Given the description of an element on the screen output the (x, y) to click on. 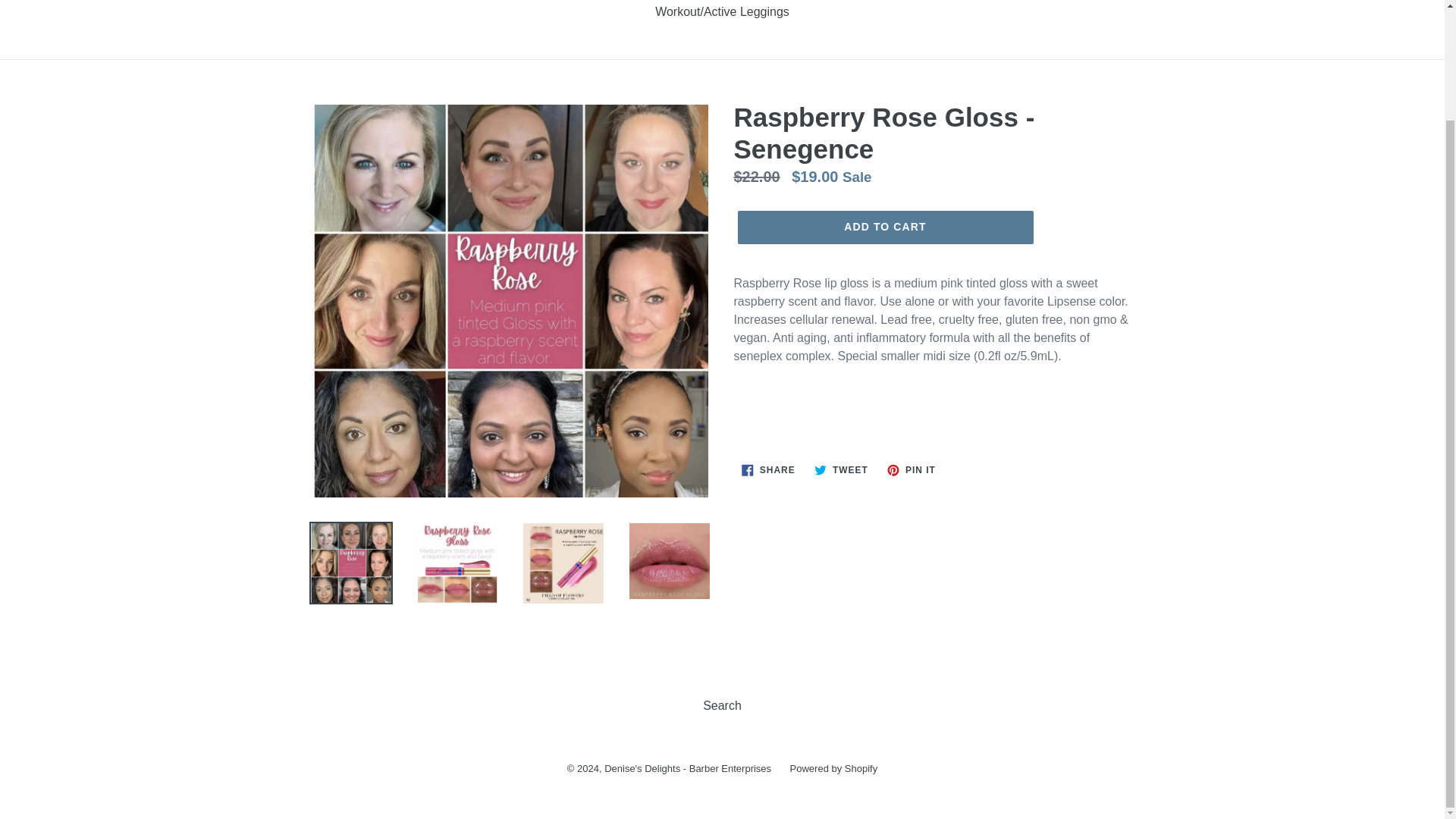
Senegence Products (793, 1)
Extra Plus Size Leggings (388, 1)
Dresses (1185, 1)
One Size Leggings (128, 1)
Socks n Stuff (1330, 1)
SHORTS (1251, 1)
Leg Warmers (603, 1)
Tunic Tops (688, 1)
Plus Size Leggings (249, 1)
Jeans (1129, 1)
Screen Printed Leggings (933, 1)
Kids Leggings (511, 1)
Lounge Pants (1056, 1)
